Given the description of an element on the screen output the (x, y) to click on. 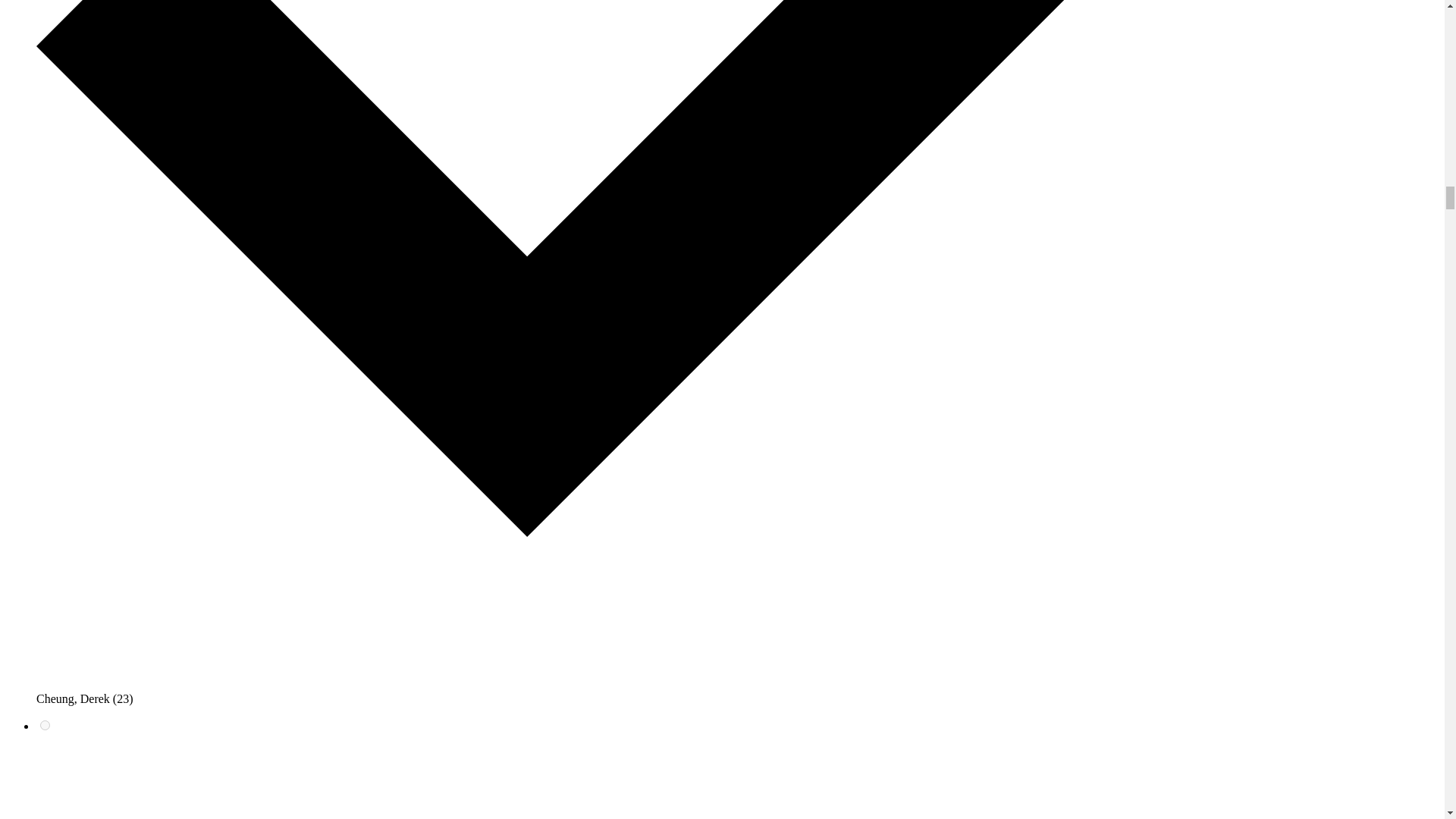
Yip, Din Yan (44, 725)
